Given the description of an element on the screen output the (x, y) to click on. 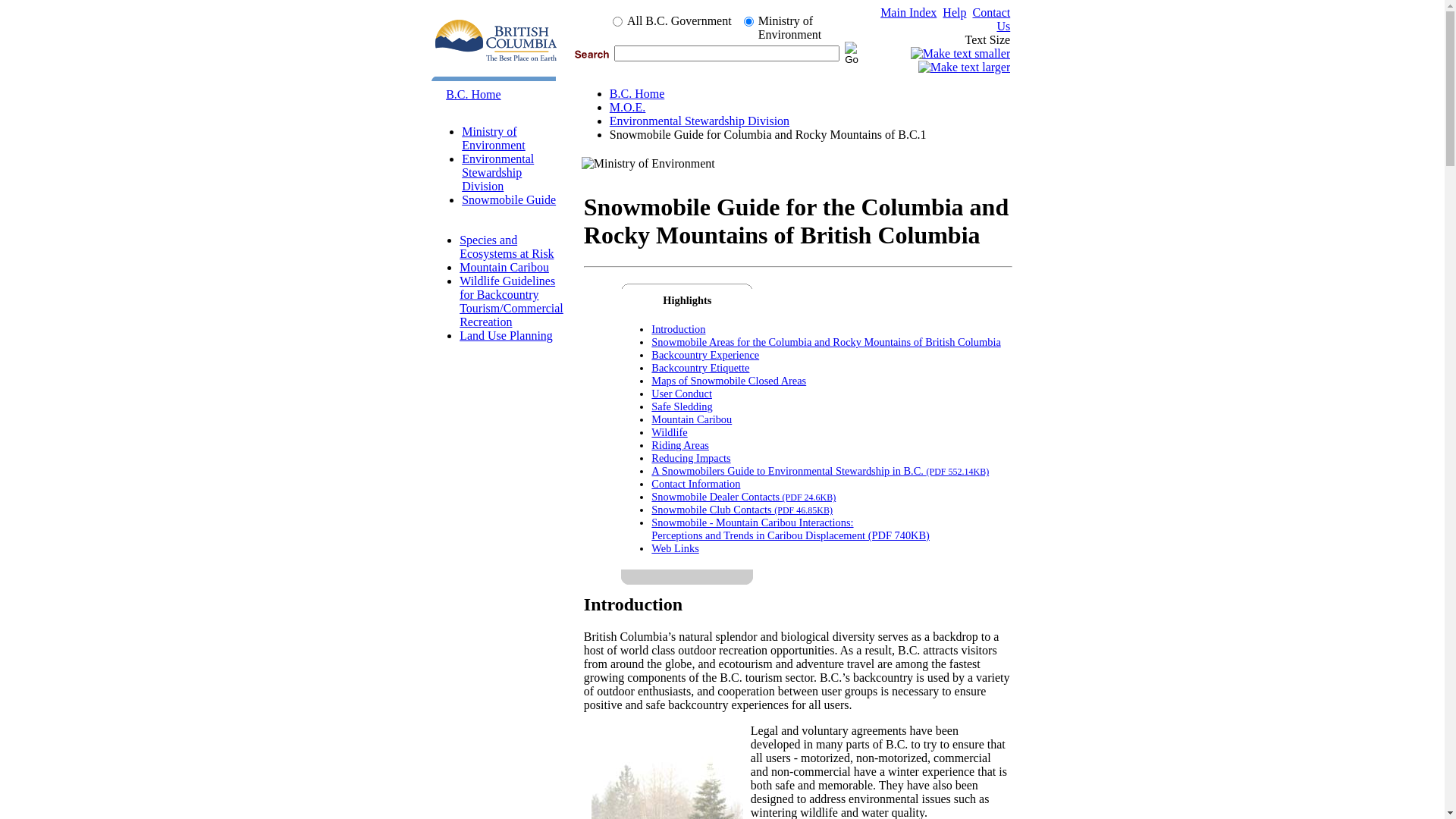
Environmental Stewardship Division Element type: text (699, 120)
Backcountry Etiquette Element type: text (700, 367)
Species and Ecosystems at Risk Element type: text (506, 246)
Riding Areas Element type: text (680, 445)
B.C. Home Element type: text (472, 93)
Snowmobile Dealer Contacts (PDF 24.6KB) Element type: text (743, 496)
M.O.E. Element type: text (627, 106)
Main Index Element type: text (908, 12)
Land Use Planning Element type: text (505, 335)
B.C. Home Element type: text (636, 93)
Introduction Element type: text (678, 329)
Snowmobile Club Contacts (PDF 46.85KB) Element type: text (741, 509)
Mountain Caribou Element type: text (504, 266)
Reducing Impacts Element type: text (690, 457)
Mountain Caribou Element type: text (691, 419)
Web Links Element type: text (674, 548)
Contact Information Element type: text (695, 483)
Ministry of
Environment Element type: text (493, 138)
Snowmobile Guide Element type: text (508, 199)
Environmental Stewardship Division Element type: text (497, 172)
Wildlife Element type: text (669, 432)
Contact Us Element type: text (991, 19)
User Conduct Element type: text (681, 393)
Safe Sledding Element type: text (681, 406)
Maps of Snowmobile Closed Areas Element type: text (728, 380)
Help Element type: text (954, 12)
Backcountry Experience Element type: text (705, 354)
